Given the description of an element on the screen output the (x, y) to click on. 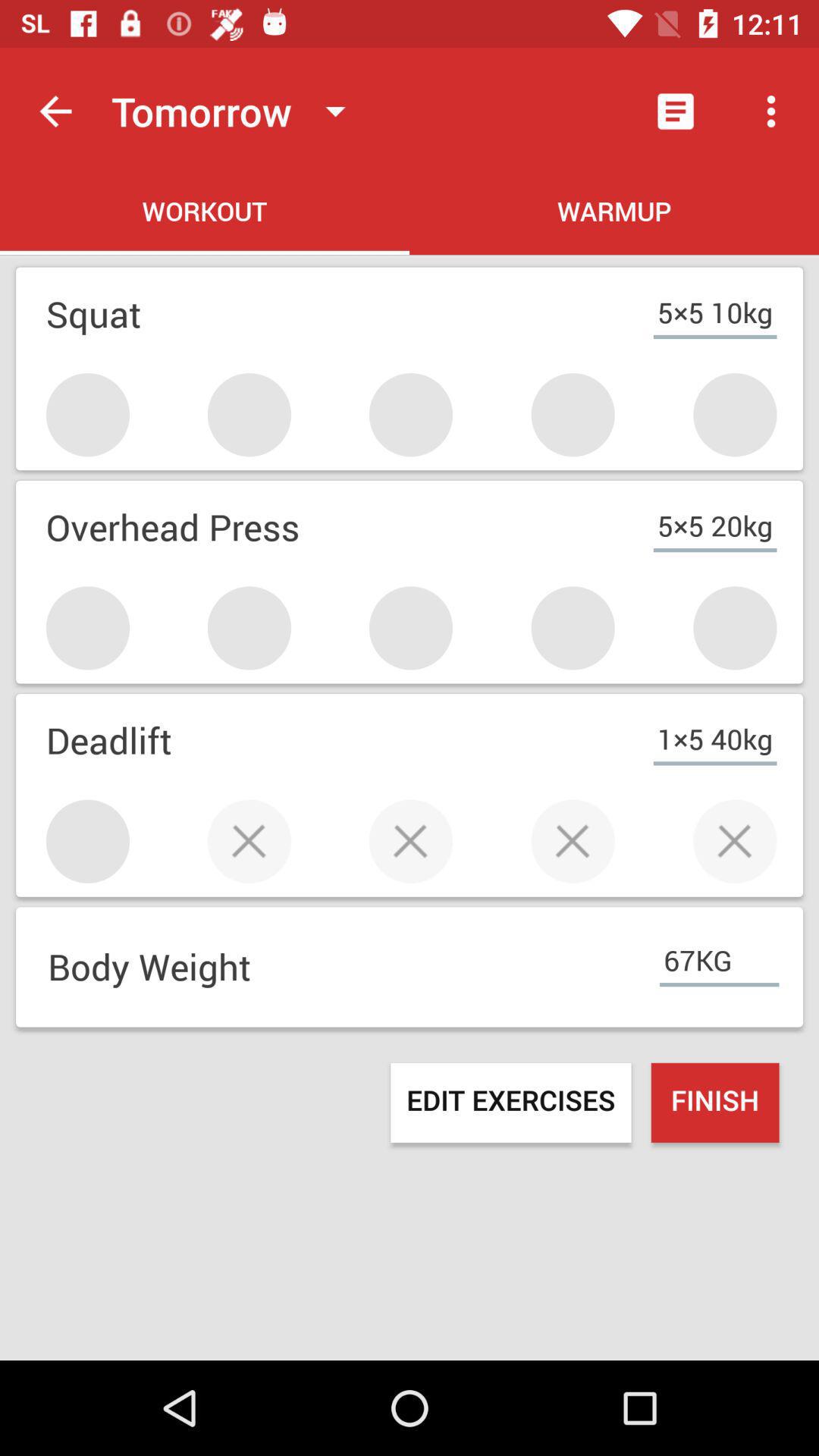
press the icon to the right of the tomorrow icon (675, 111)
